Given the description of an element on the screen output the (x, y) to click on. 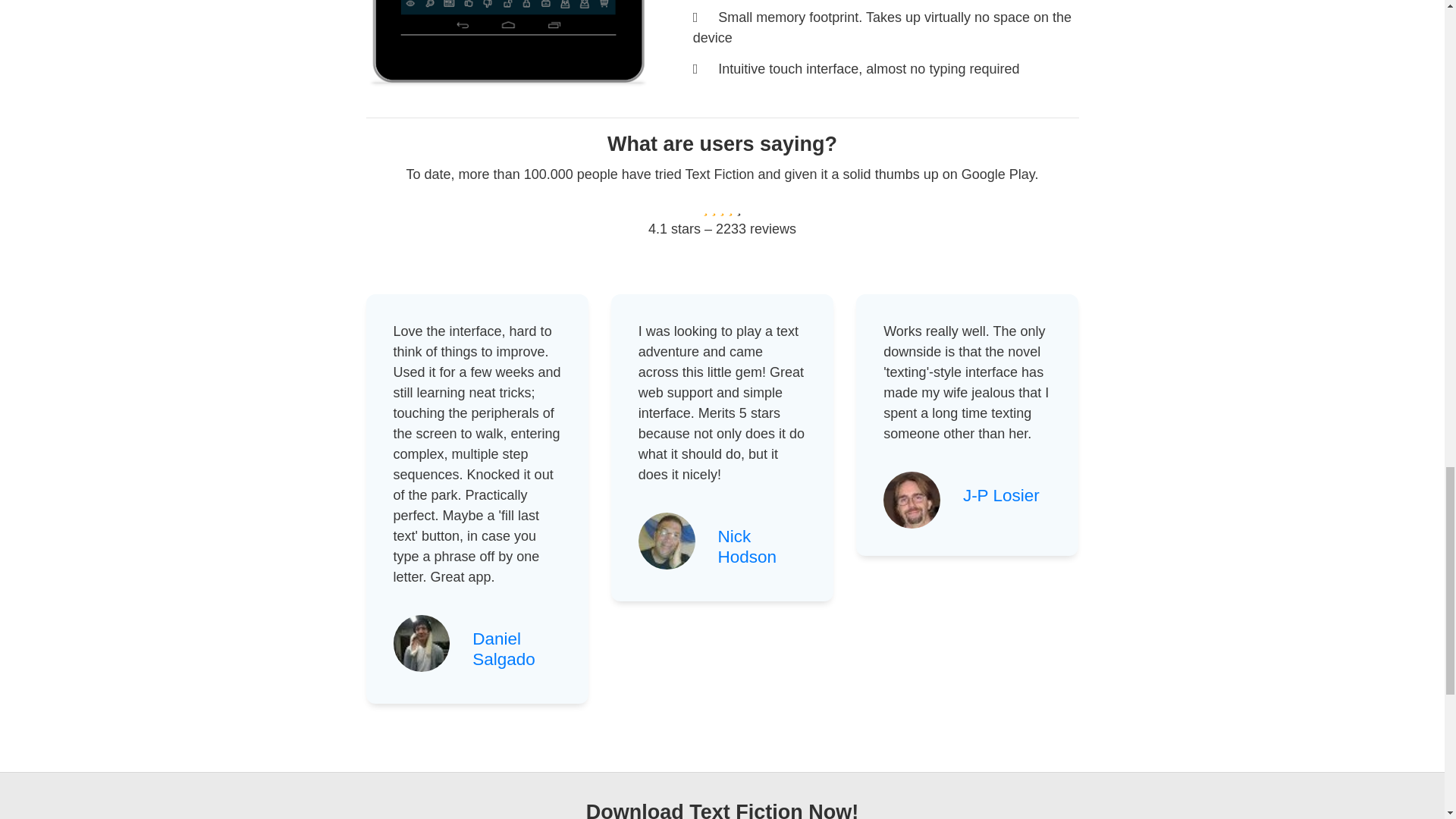
J-P Losier (1000, 495)
Daniel Salgado (503, 649)
Nick Hodson (747, 546)
Profile Picture (421, 643)
Reference (747, 546)
Reference (503, 649)
Reference (1000, 495)
Profile Picture (667, 540)
Profile Picture (911, 499)
